Given the description of an element on the screen output the (x, y) to click on. 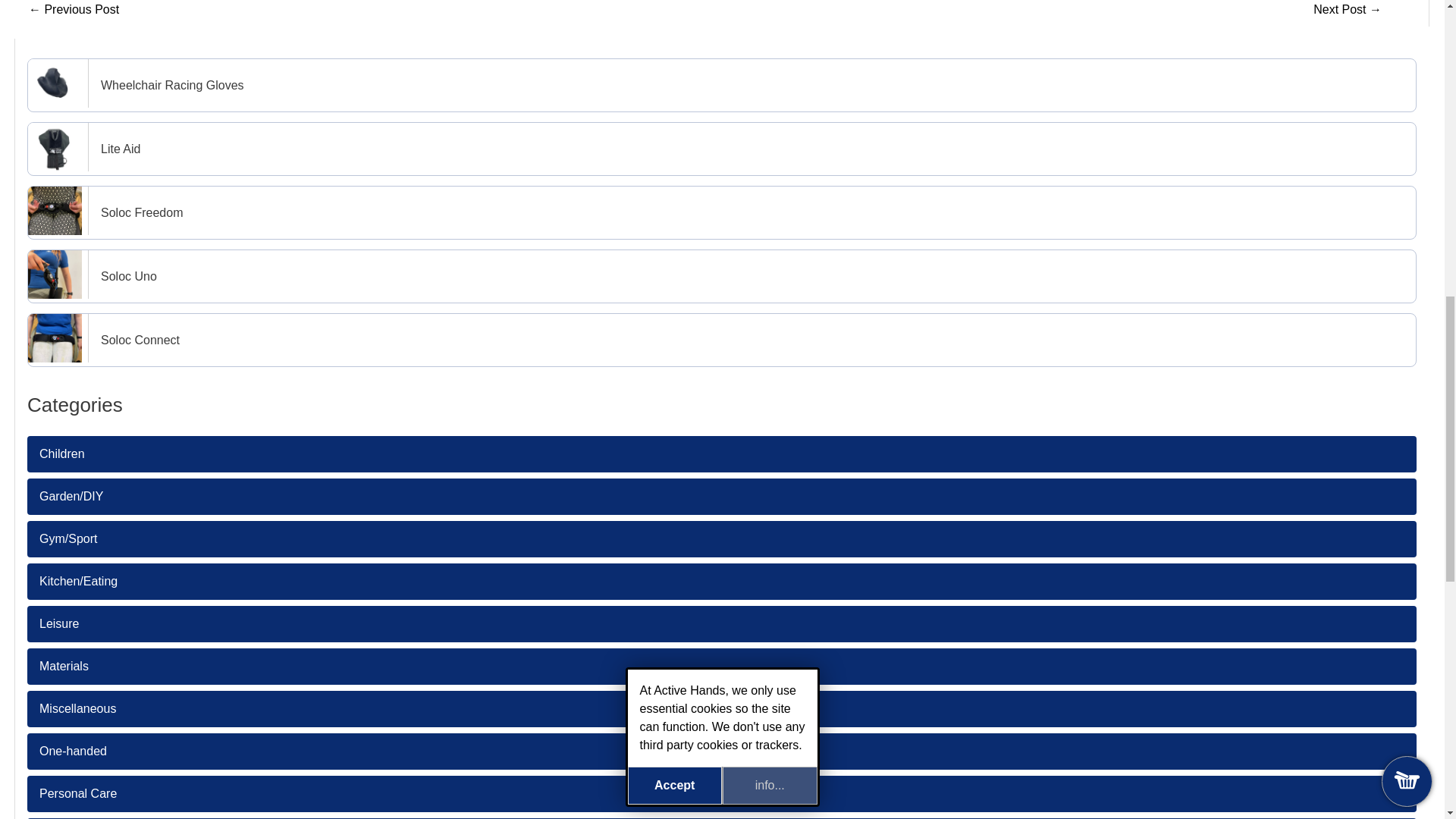
Soloc Connect (721, 339)
Wheelchair Racing Gloves (721, 85)
Soloc Freedom (721, 212)
Soloc Uno (721, 276)
Lite Aid (721, 149)
